Given the description of an element on the screen output the (x, y) to click on. 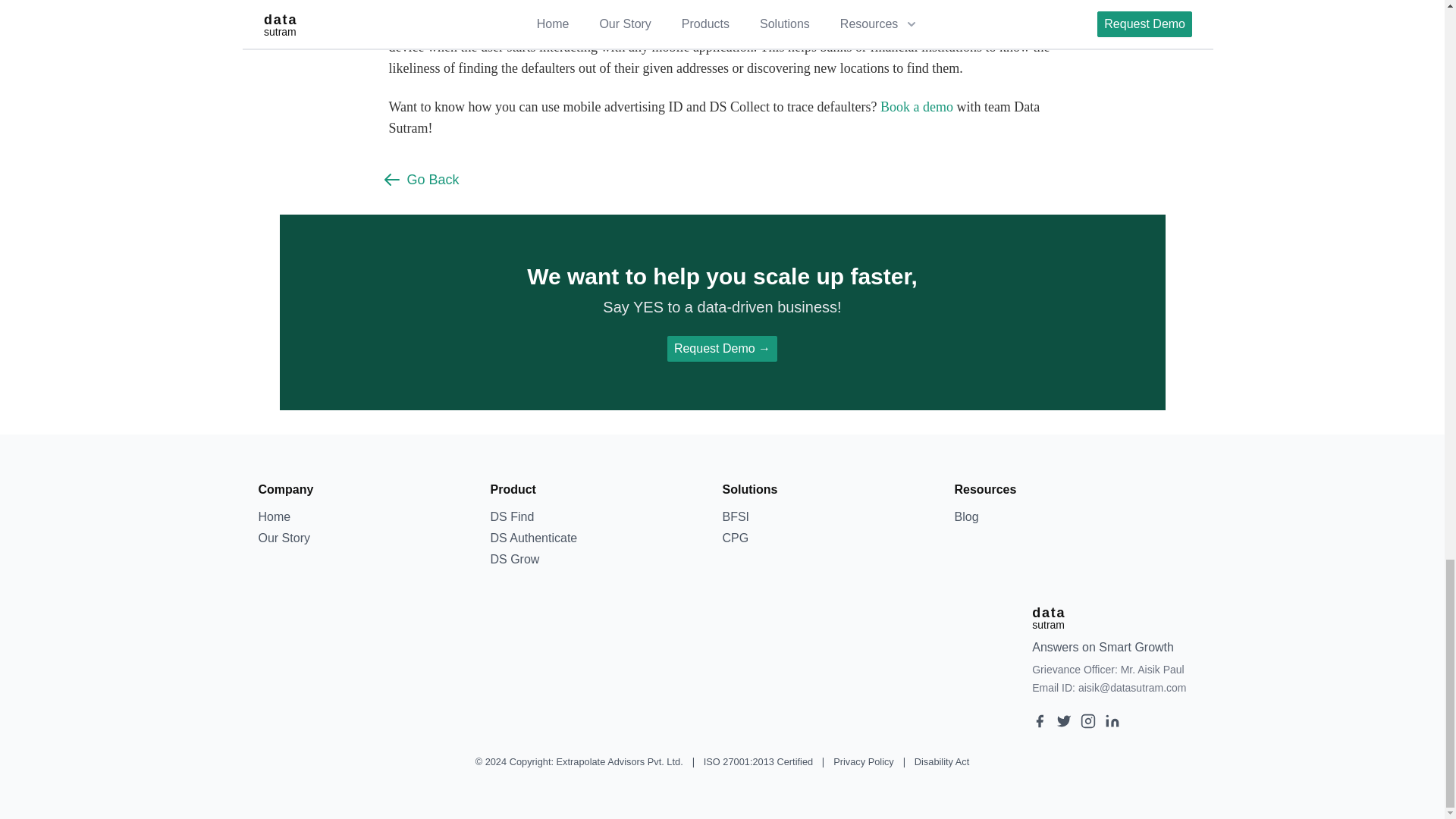
CPG (735, 537)
DS Authenticate (532, 537)
DS Find (511, 516)
Blog (965, 516)
DS Grow (513, 558)
Home (273, 516)
Book a demo (916, 106)
BFSI (735, 516)
Go Back (419, 179)
Privacy Policy (862, 761)
Our Story (282, 537)
Disability Act (941, 761)
